Given the description of an element on the screen output the (x, y) to click on. 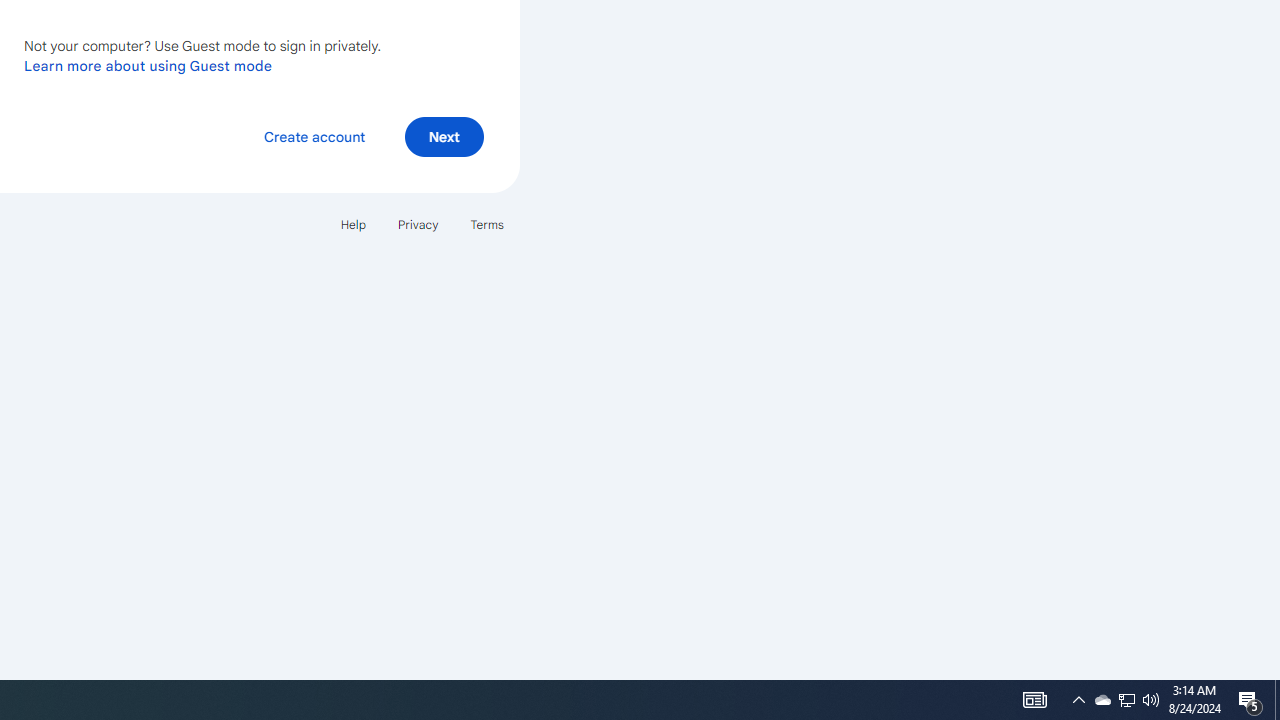
Create account (314, 135)
Learn more about using Guest mode (148, 65)
